Given the description of an element on the screen output the (x, y) to click on. 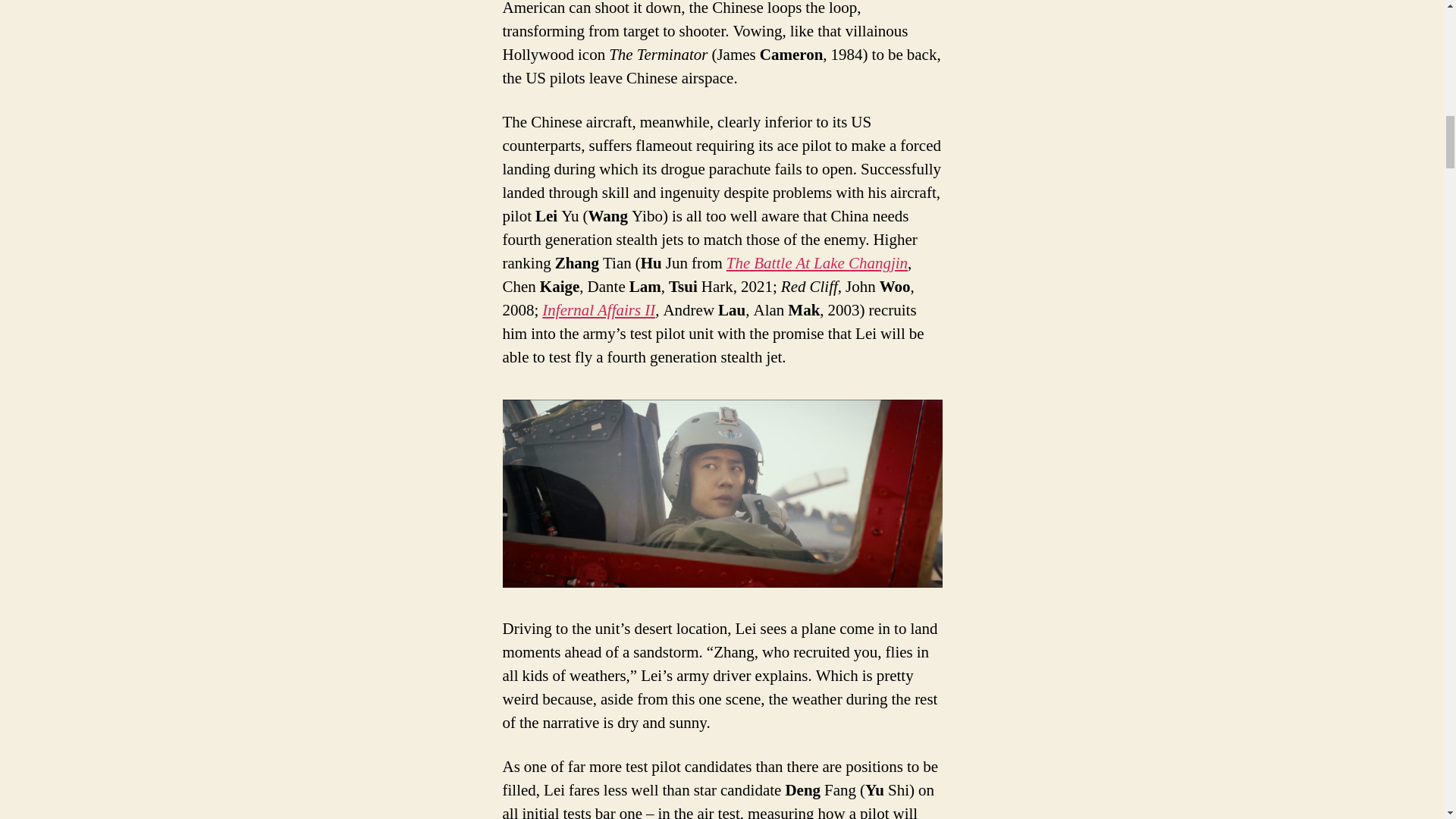
Infernal Affairs II (598, 310)
The Battle At Lake Changjin (816, 263)
